Given the description of an element on the screen output the (x, y) to click on. 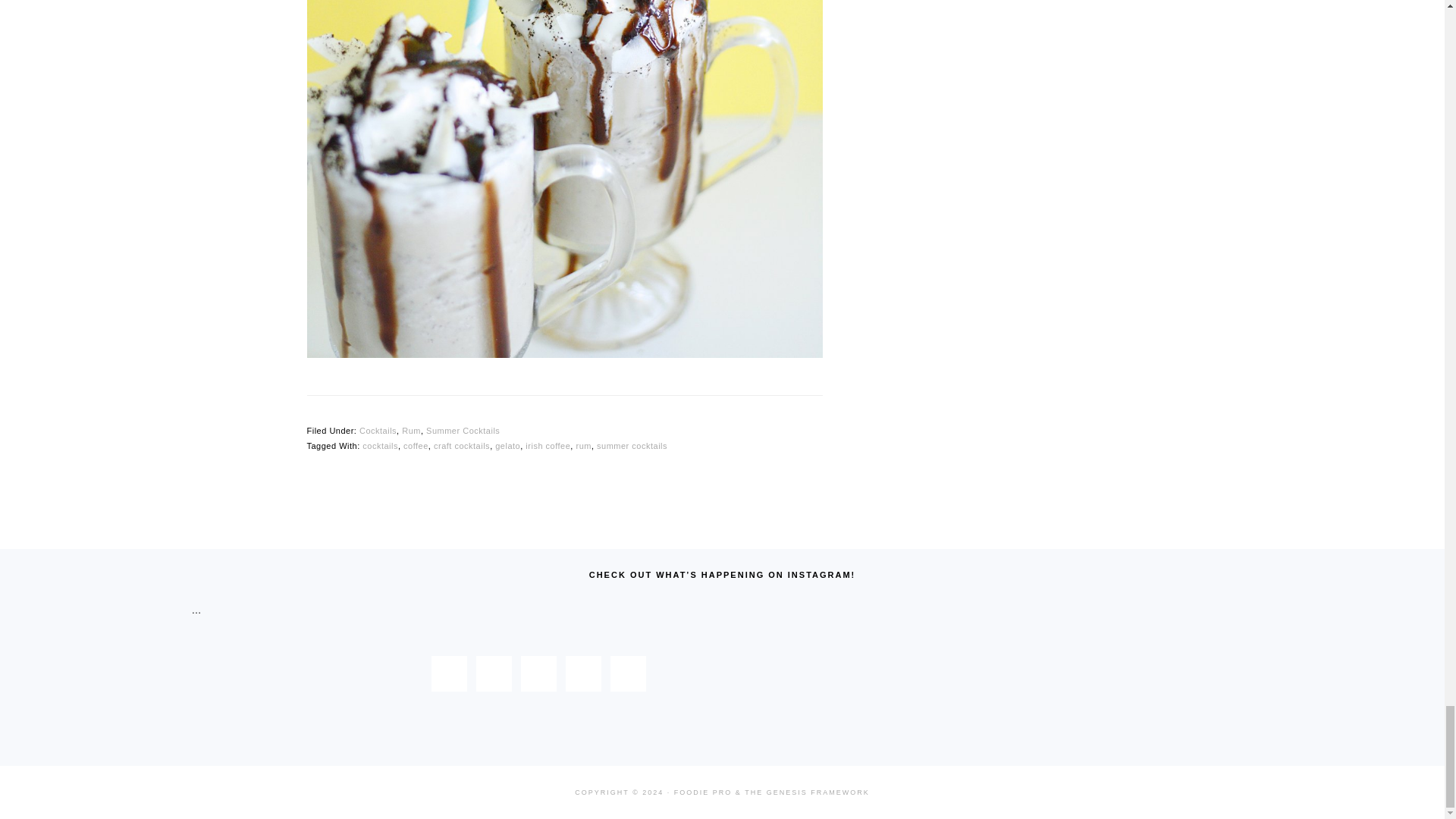
coffee (415, 445)
Rum (410, 429)
gelato (507, 445)
irish coffee (547, 445)
Summer Cocktails (462, 429)
Cocktails (377, 429)
cocktails (379, 445)
craft cocktails (461, 445)
